Given the description of an element on the screen output the (x, y) to click on. 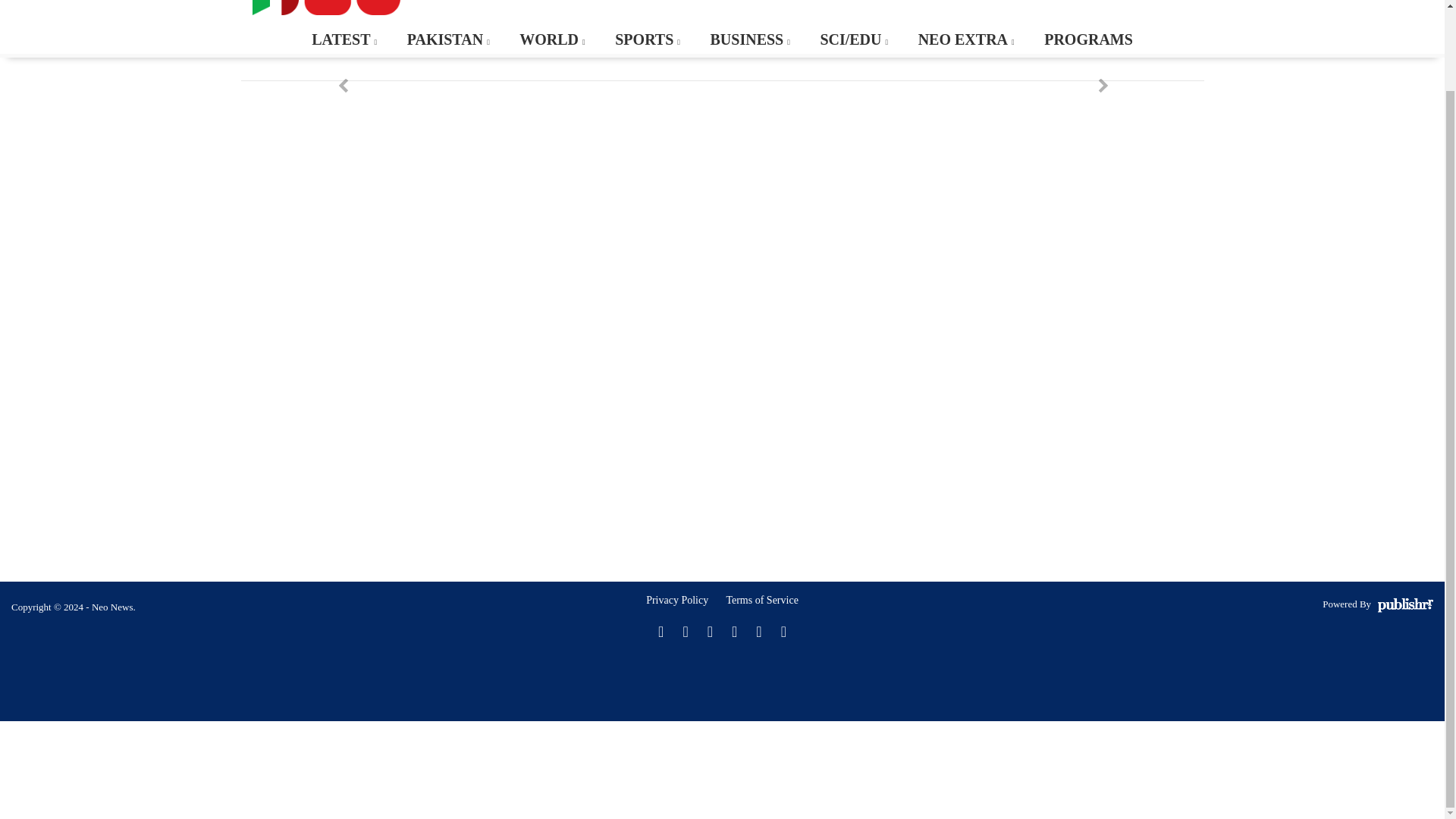
SKIP TO CONTENT (71, 31)
WORLD (549, 39)
PAKISTAN (446, 39)
LATEST (342, 39)
Skip to content (71, 31)
